Given the description of an element on the screen output the (x, y) to click on. 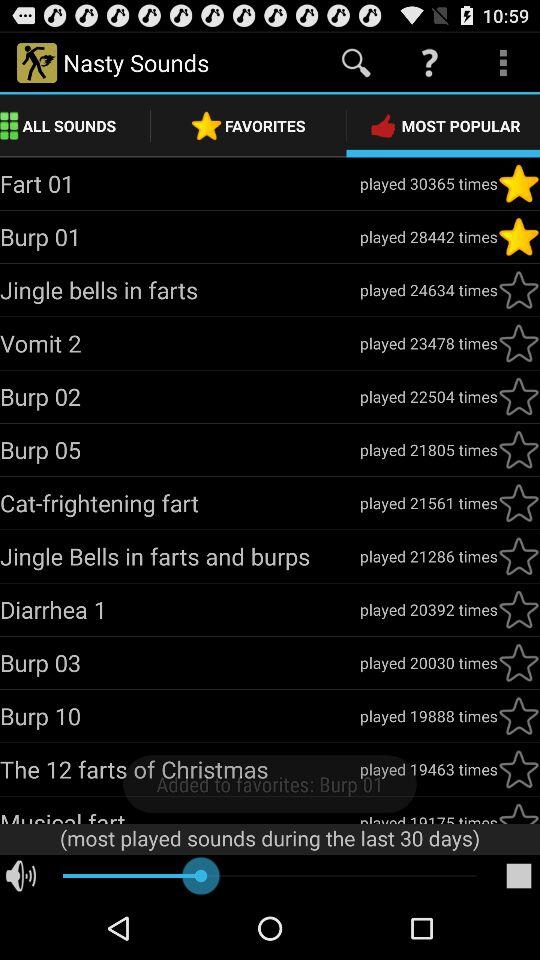
tap app next to played 20030 times (180, 662)
